Given the description of an element on the screen output the (x, y) to click on. 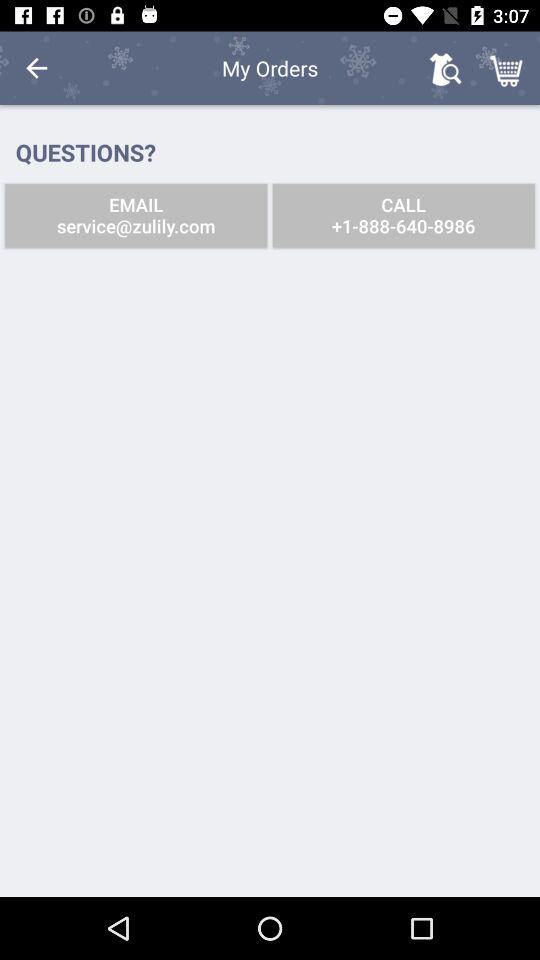
press icon above questions? item (36, 68)
